Given the description of an element on the screen output the (x, y) to click on. 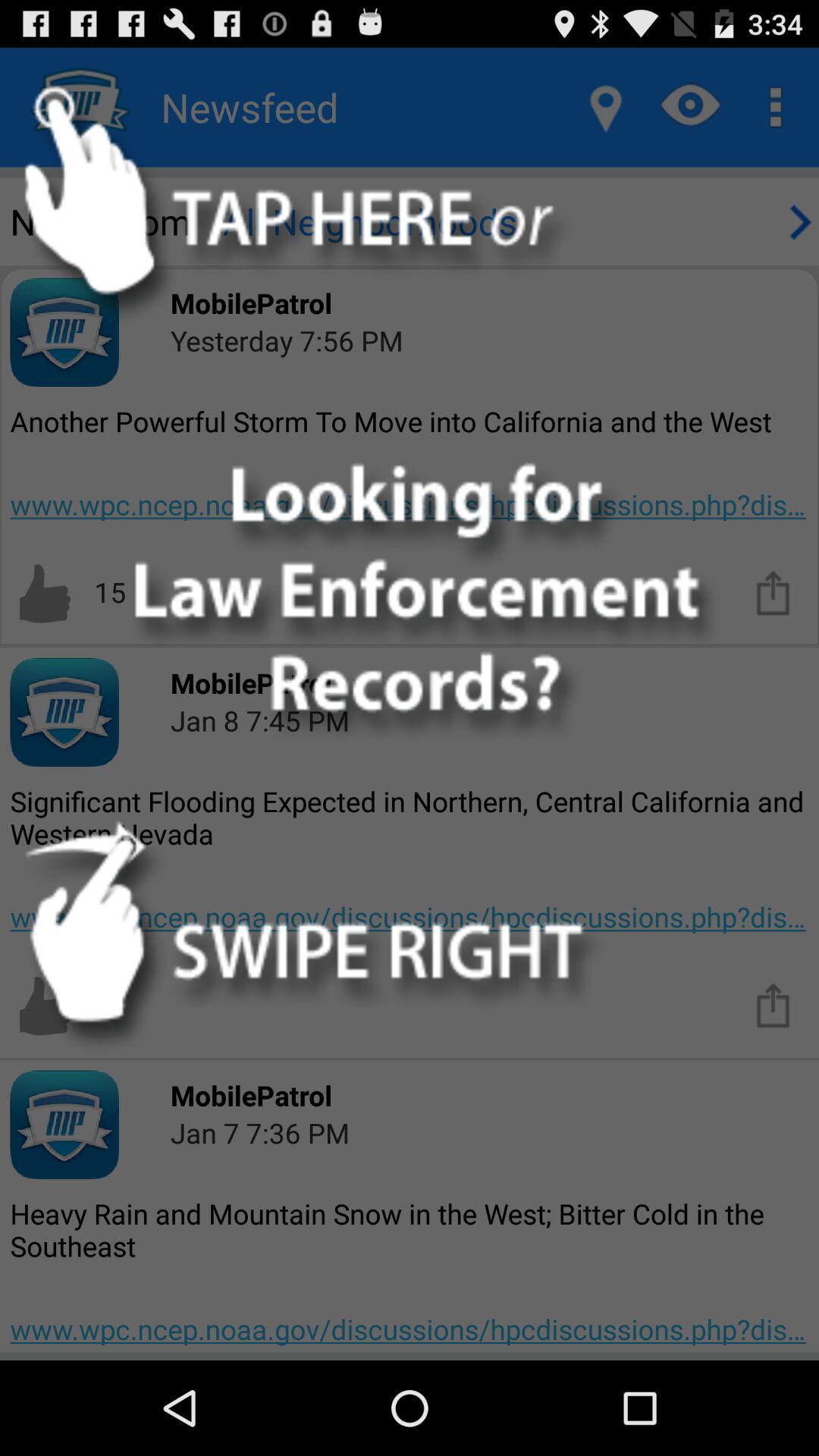
share the article (774, 592)
